Given the description of an element on the screen output the (x, y) to click on. 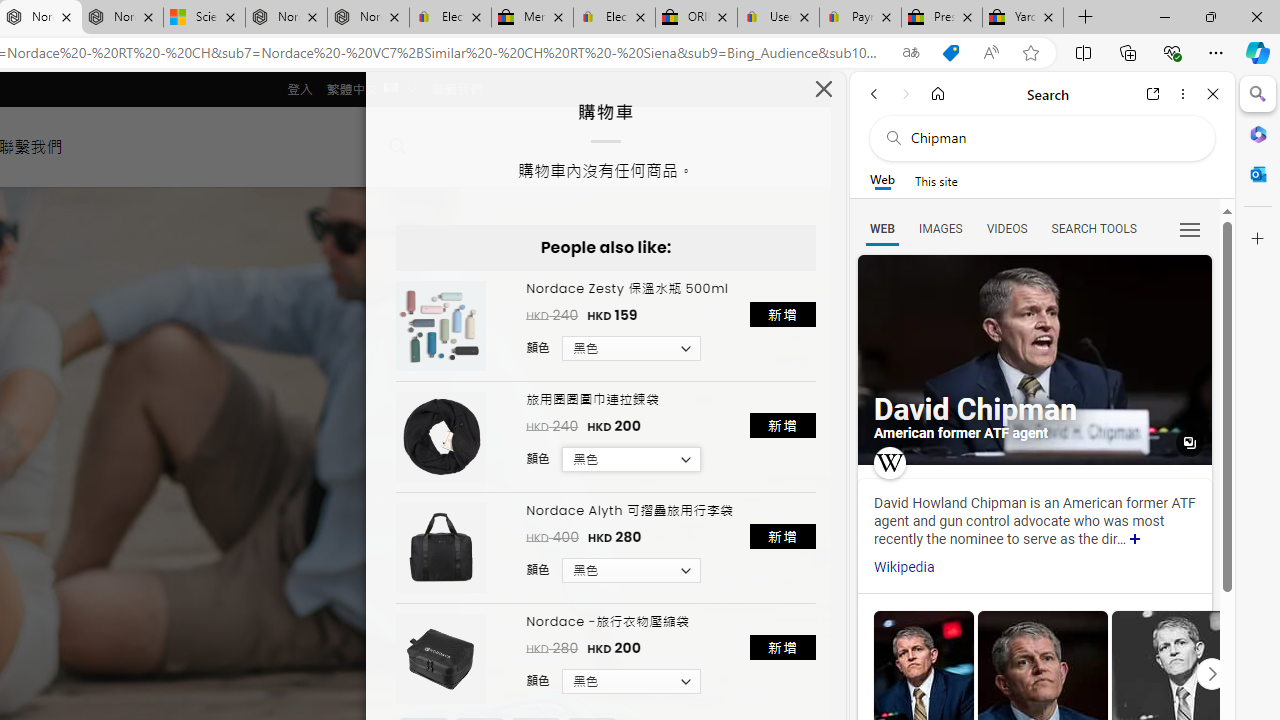
Show translate options (910, 53)
Close (Esc) (824, 93)
Wikipedia (904, 567)
Search Filter, VIDEOS (1006, 228)
All images (1034, 359)
Search Filter, Search Tools (1093, 228)
Yard, Garden & Outdoor Living (1023, 17)
Nordace - Summer Adventures 2024 (285, 17)
